Given the description of an element on the screen output the (x, y) to click on. 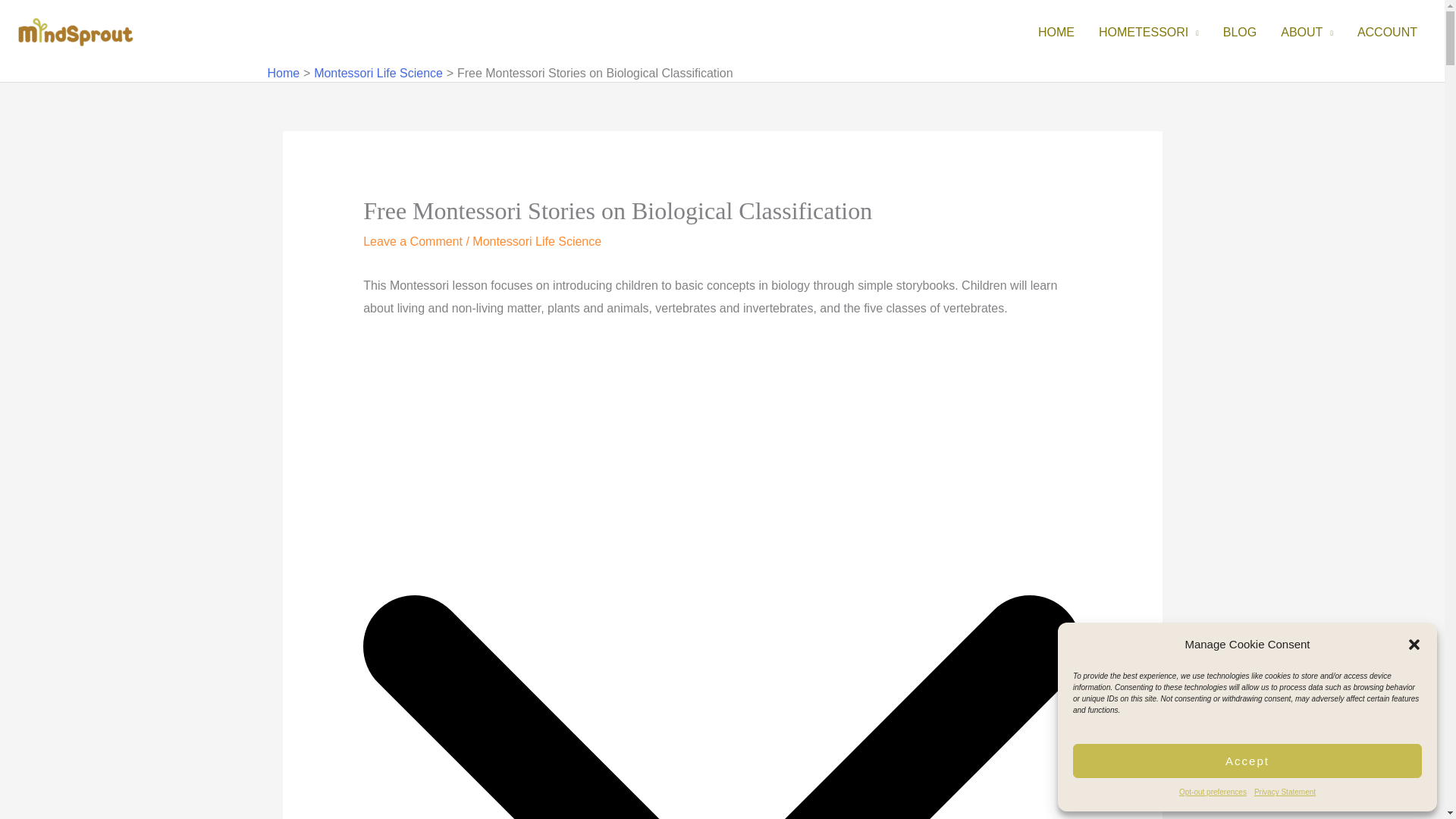
Home (282, 72)
HOME (1056, 31)
Opt-out preferences (1212, 792)
BLOG (1239, 31)
Accept (1247, 760)
HOMETESSORI (1148, 31)
ABOUT (1306, 31)
ACCOUNT (1387, 31)
Montessori Life Science (378, 72)
Privacy Statement (1284, 792)
